Given the description of an element on the screen output the (x, y) to click on. 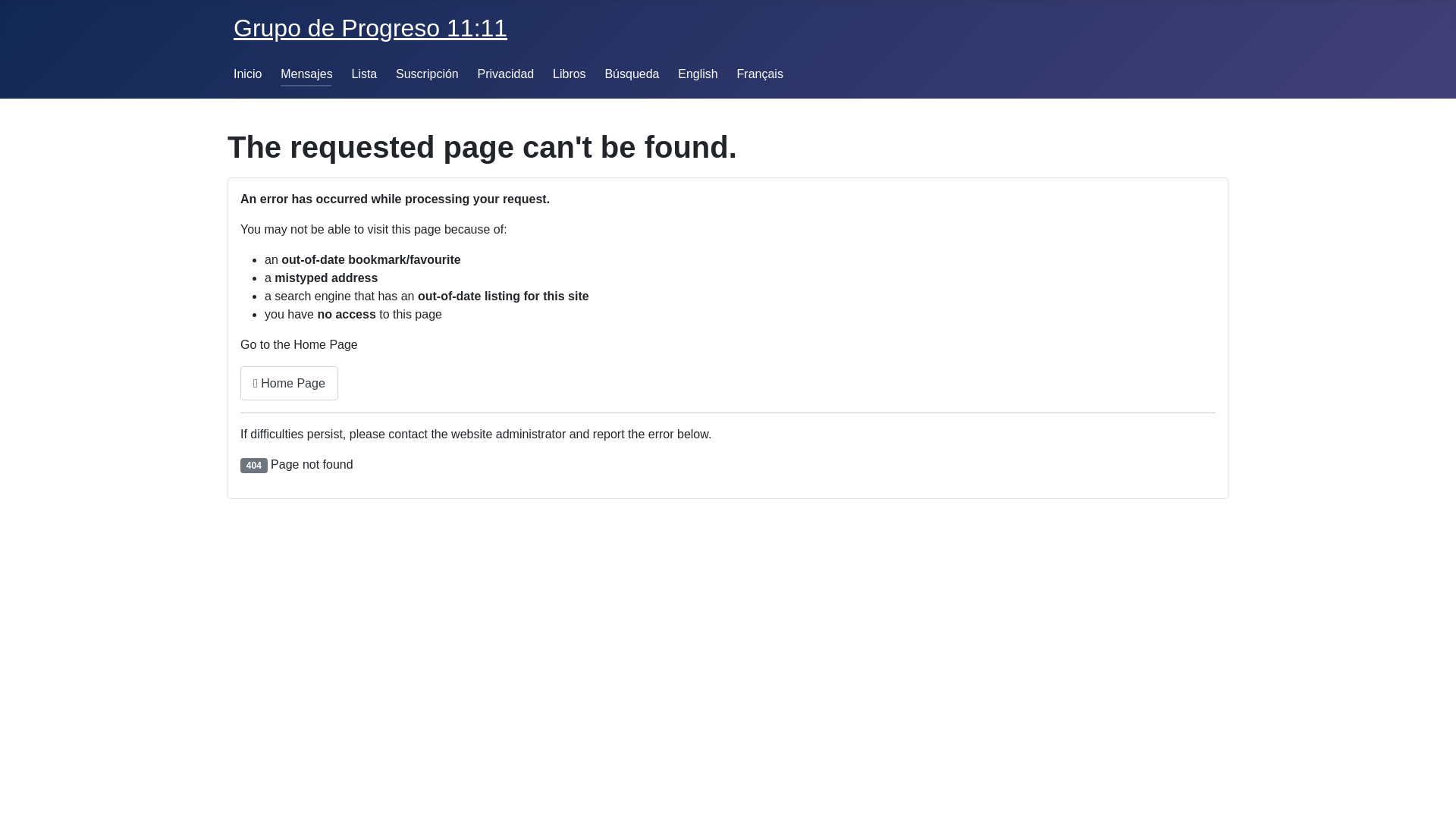
Mensajes Element type: text (306, 73)
Grupo de Progreso 11:11 Element type: text (370, 27)
Home Page Element type: text (289, 383)
Libros Element type: text (569, 73)
English Element type: text (697, 73)
Privacidad Element type: text (505, 73)
Inicio Element type: text (247, 73)
Lista Element type: text (363, 73)
